Given the description of an element on the screen output the (x, y) to click on. 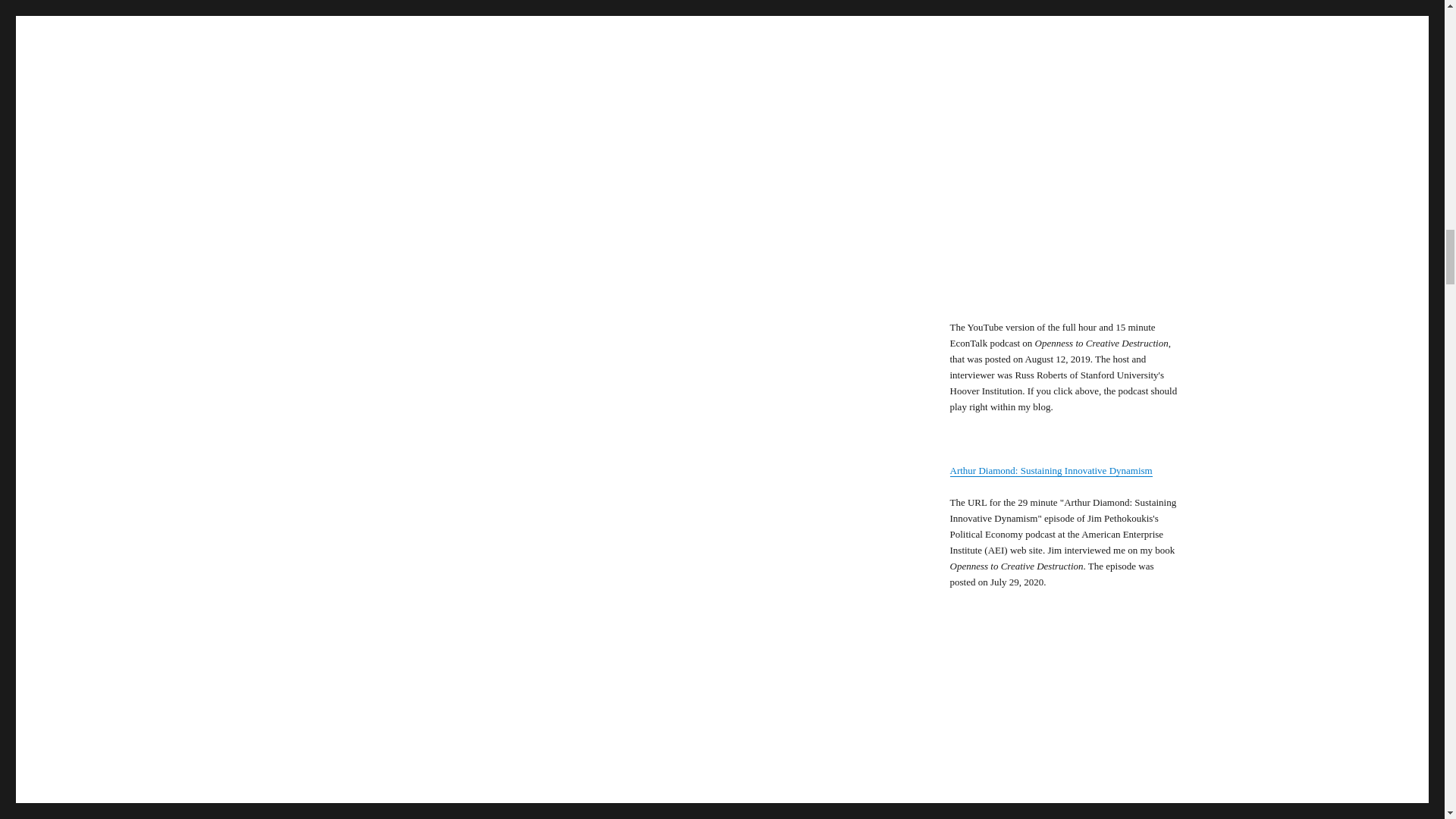
Arthur Diamond: Sustaining Innovative Dynamism (1050, 470)
